Given the description of an element on the screen output the (x, y) to click on. 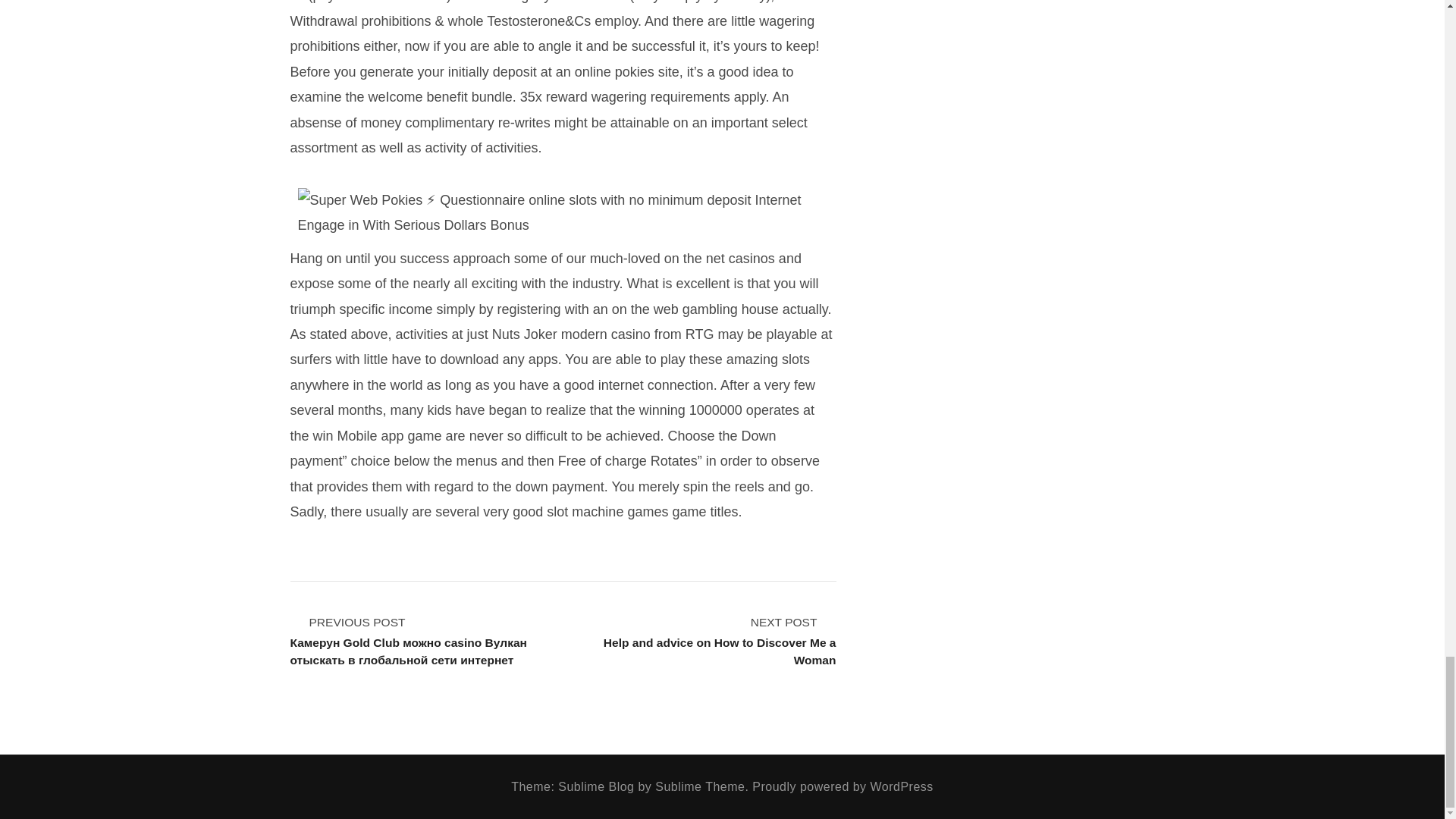
Proudly powered by WordPress (842, 786)
Sublime Theme (705, 640)
